Given the description of an element on the screen output the (x, y) to click on. 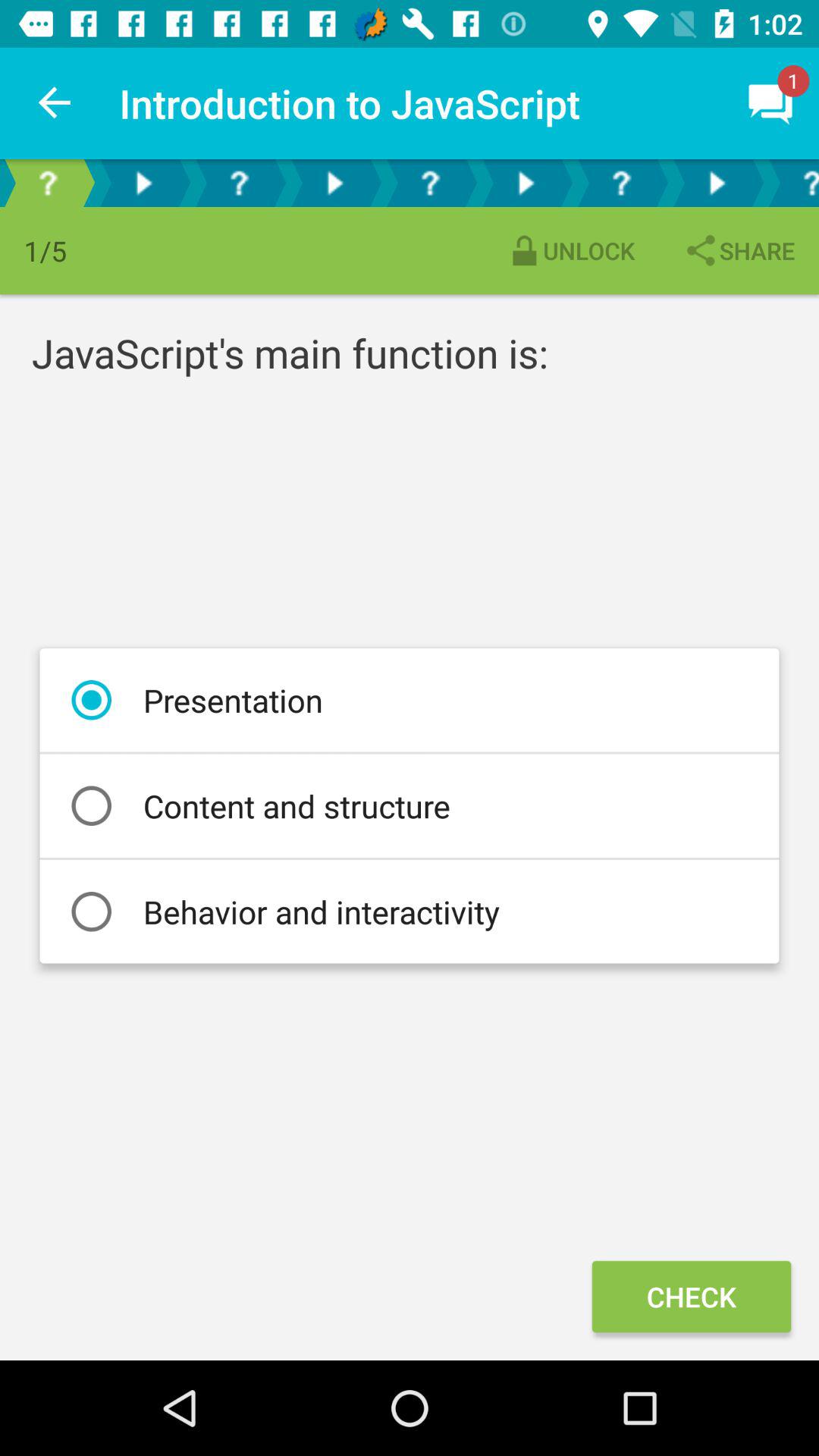
help (47, 183)
